Given the description of an element on the screen output the (x, y) to click on. 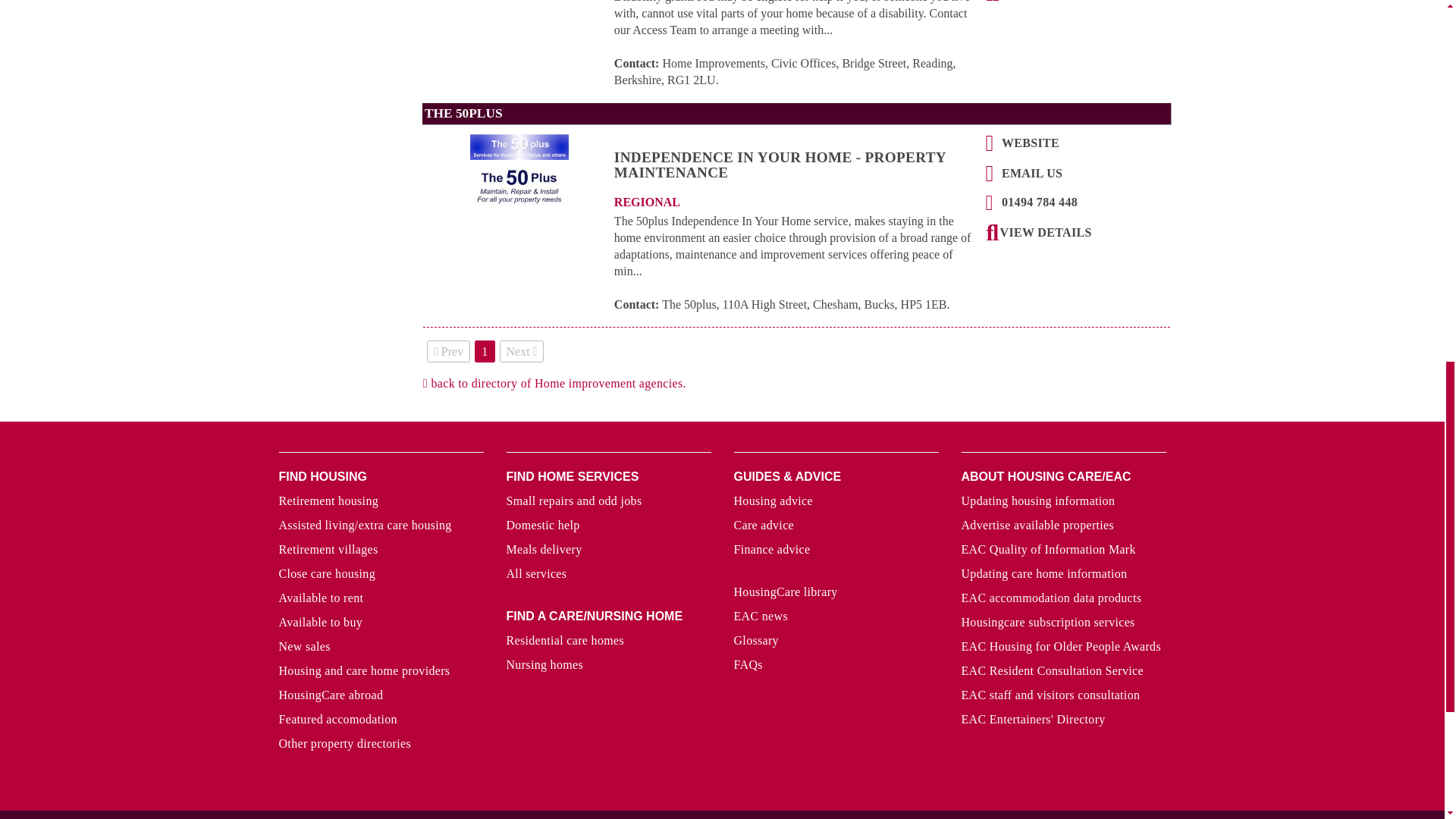
Home Improvements: Home Improvements (1045, 1)
Visit The 50plus' website (1028, 146)
Independence In Your Home - Property Maintenance: The 50plus (796, 178)
Independence In Your Home - Property Maintenance: The 50plus (1045, 236)
